Given the description of an element on the screen output the (x, y) to click on. 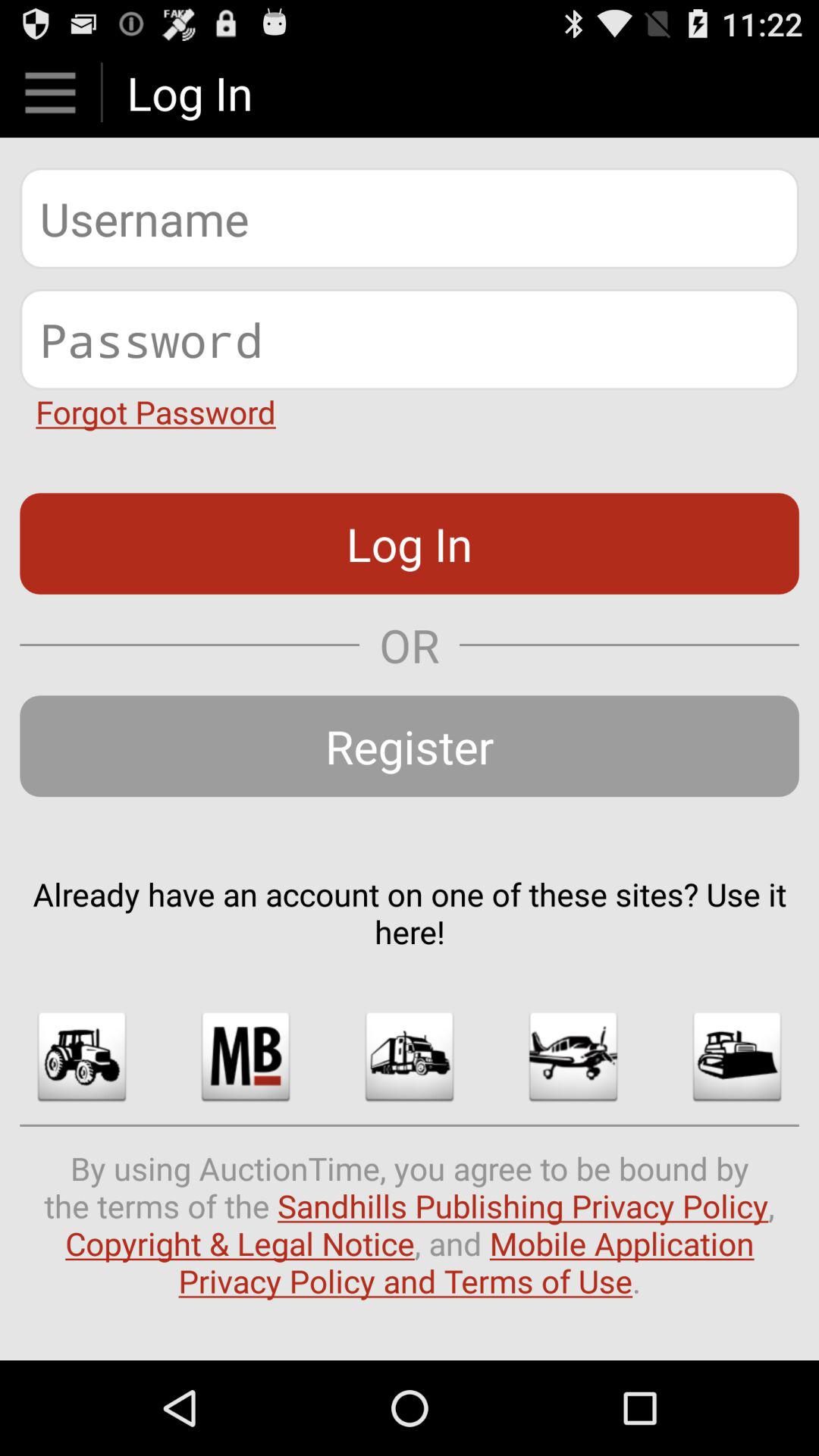
swipe to forgot password app (155, 411)
